Given the description of an element on the screen output the (x, y) to click on. 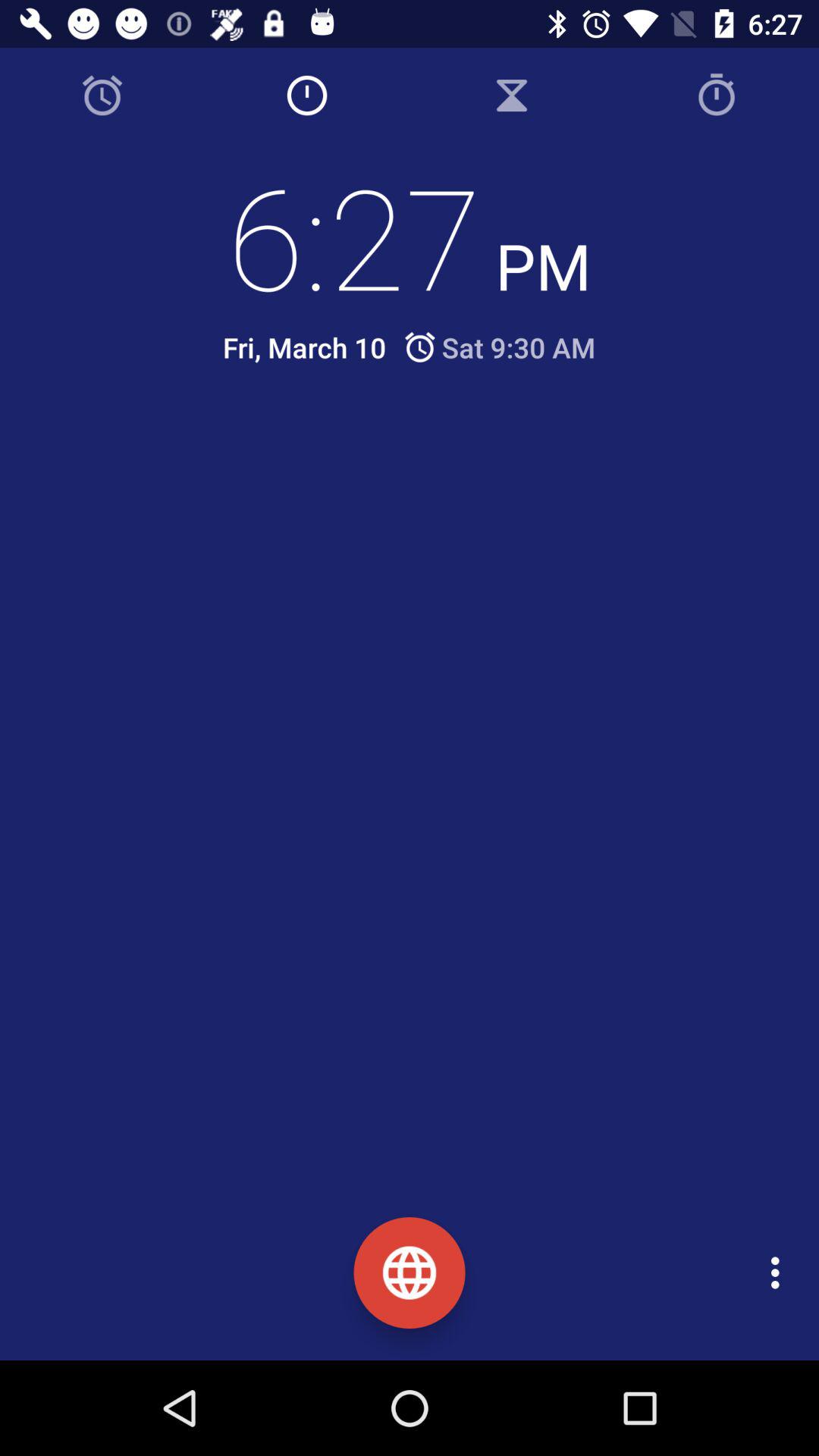
turn on the icon next to fri, march 10 (498, 347)
